Given the description of an element on the screen output the (x, y) to click on. 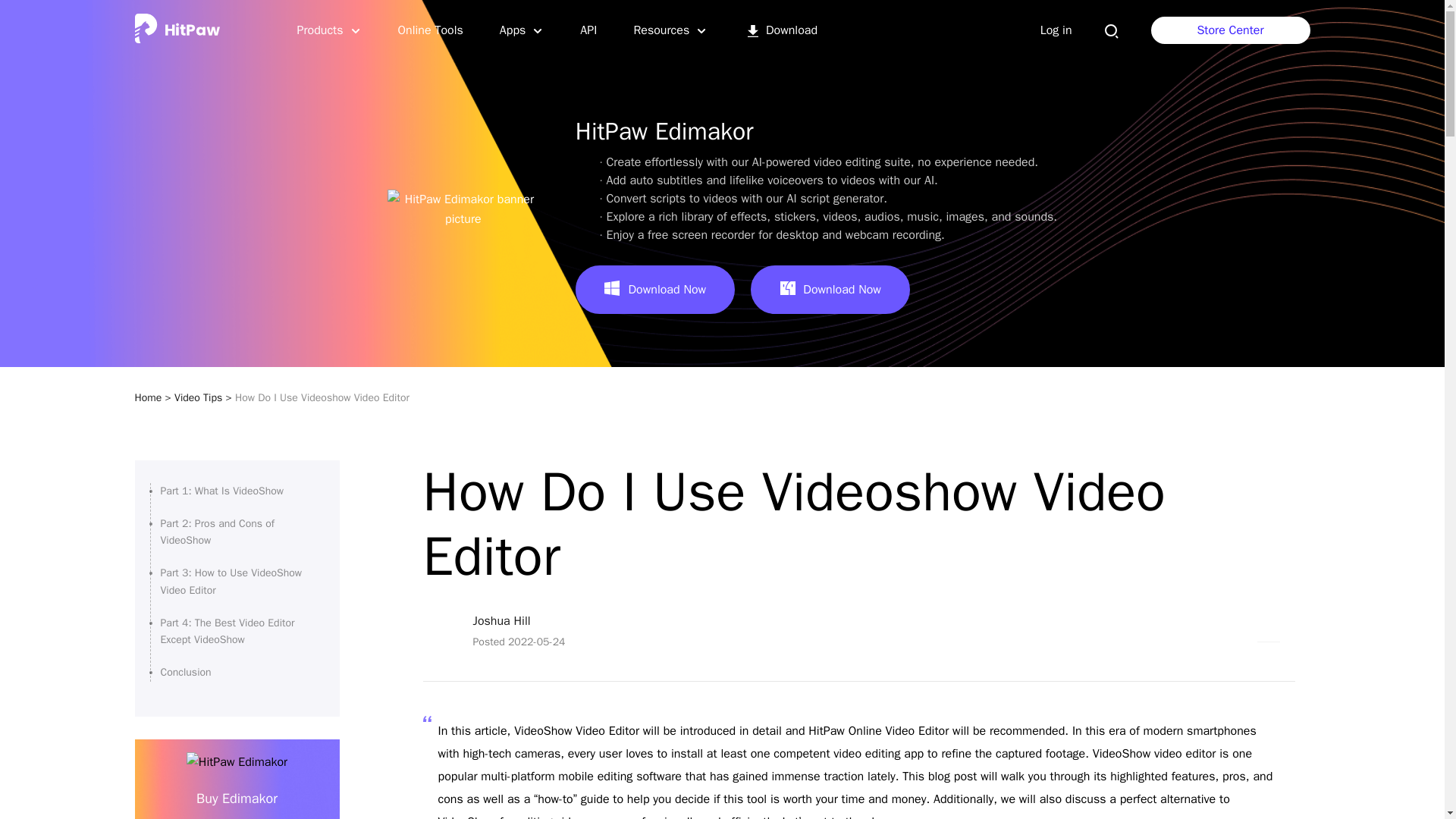
Products (329, 30)
Store Center (1230, 30)
Log in (1056, 30)
